Given the description of an element on the screen output the (x, y) to click on. 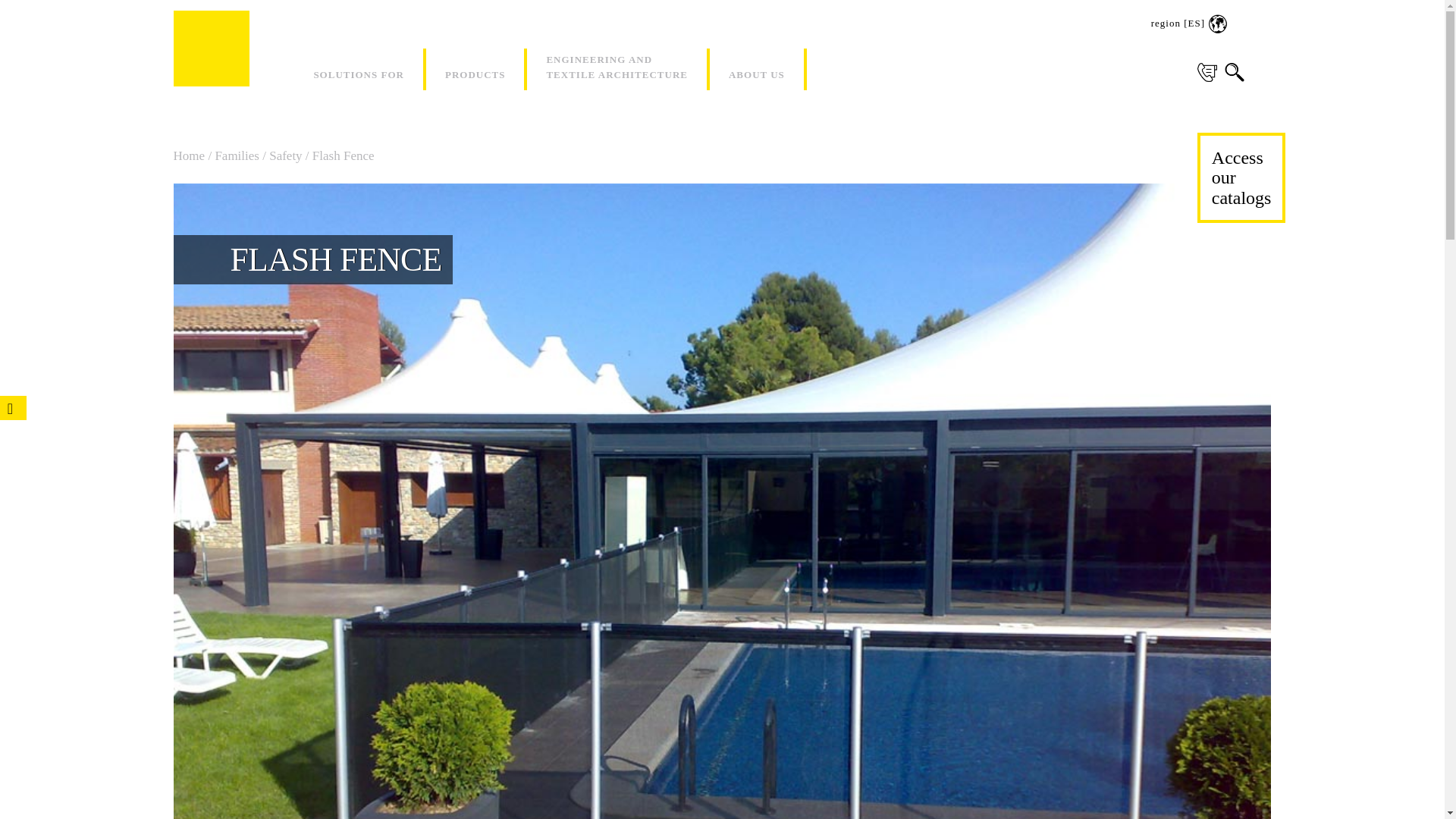
PRODUCTS (475, 69)
SOLUTIONS FOR (358, 69)
